Given the description of an element on the screen output the (x, y) to click on. 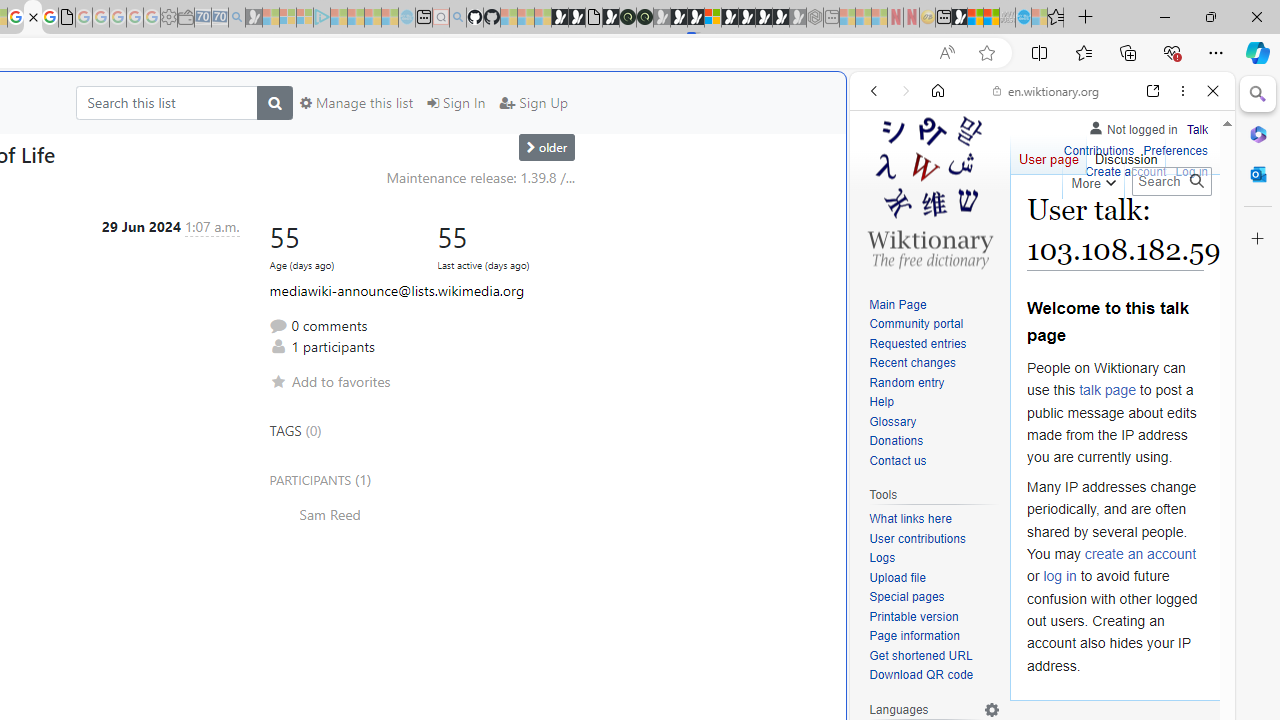
Contact us (897, 460)
What links here (910, 519)
User page (1048, 154)
Frequently visited (418, 265)
This site scope (936, 180)
talk page (1107, 390)
Create account (1125, 172)
Help (881, 402)
Random entry (934, 382)
